Given the description of an element on the screen output the (x, y) to click on. 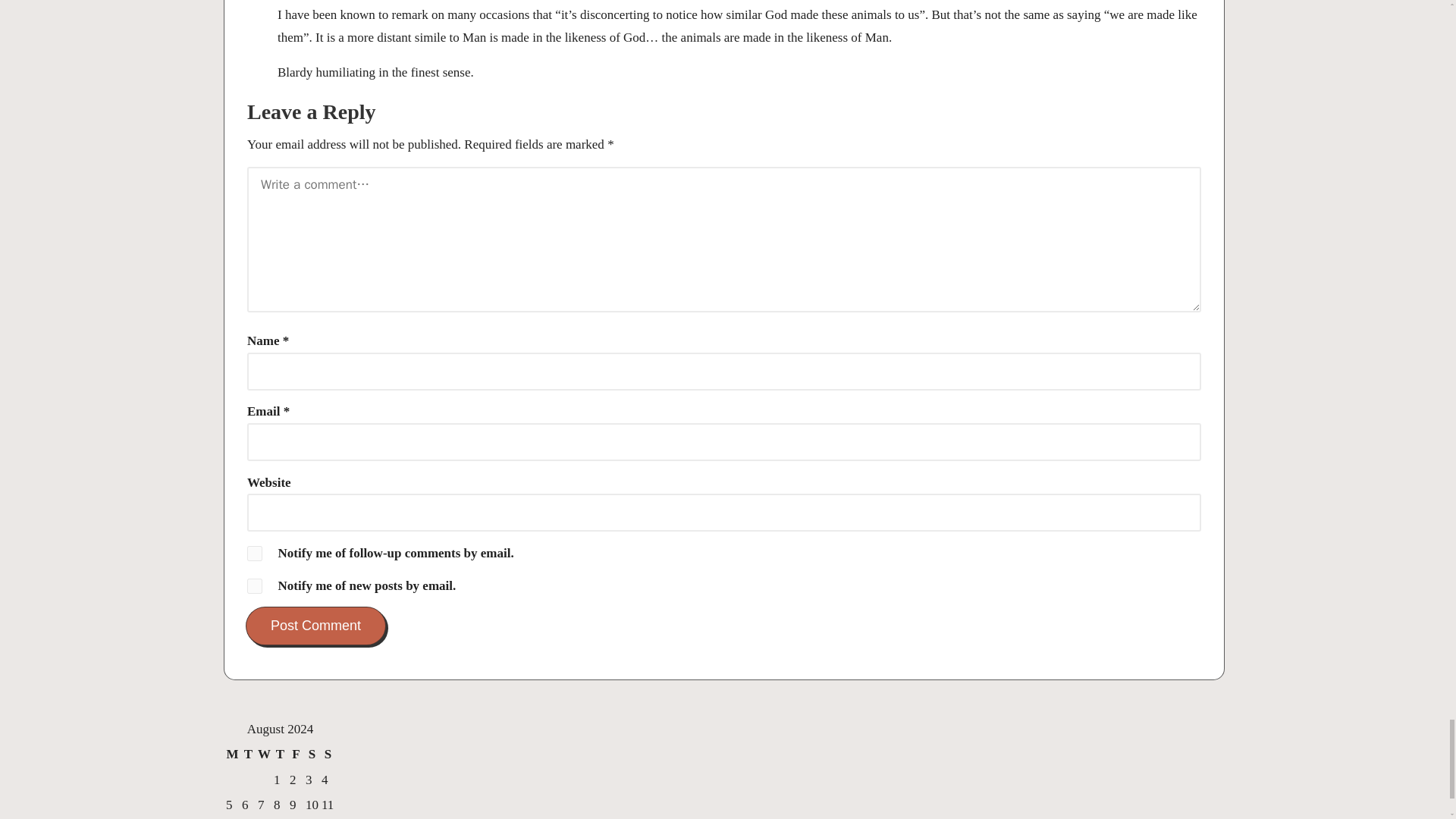
subscribe (254, 553)
Wednesday (263, 754)
Monday (232, 754)
Post Comment (315, 625)
subscribe (254, 585)
Tuesday (248, 754)
